Given the description of an element on the screen output the (x, y) to click on. 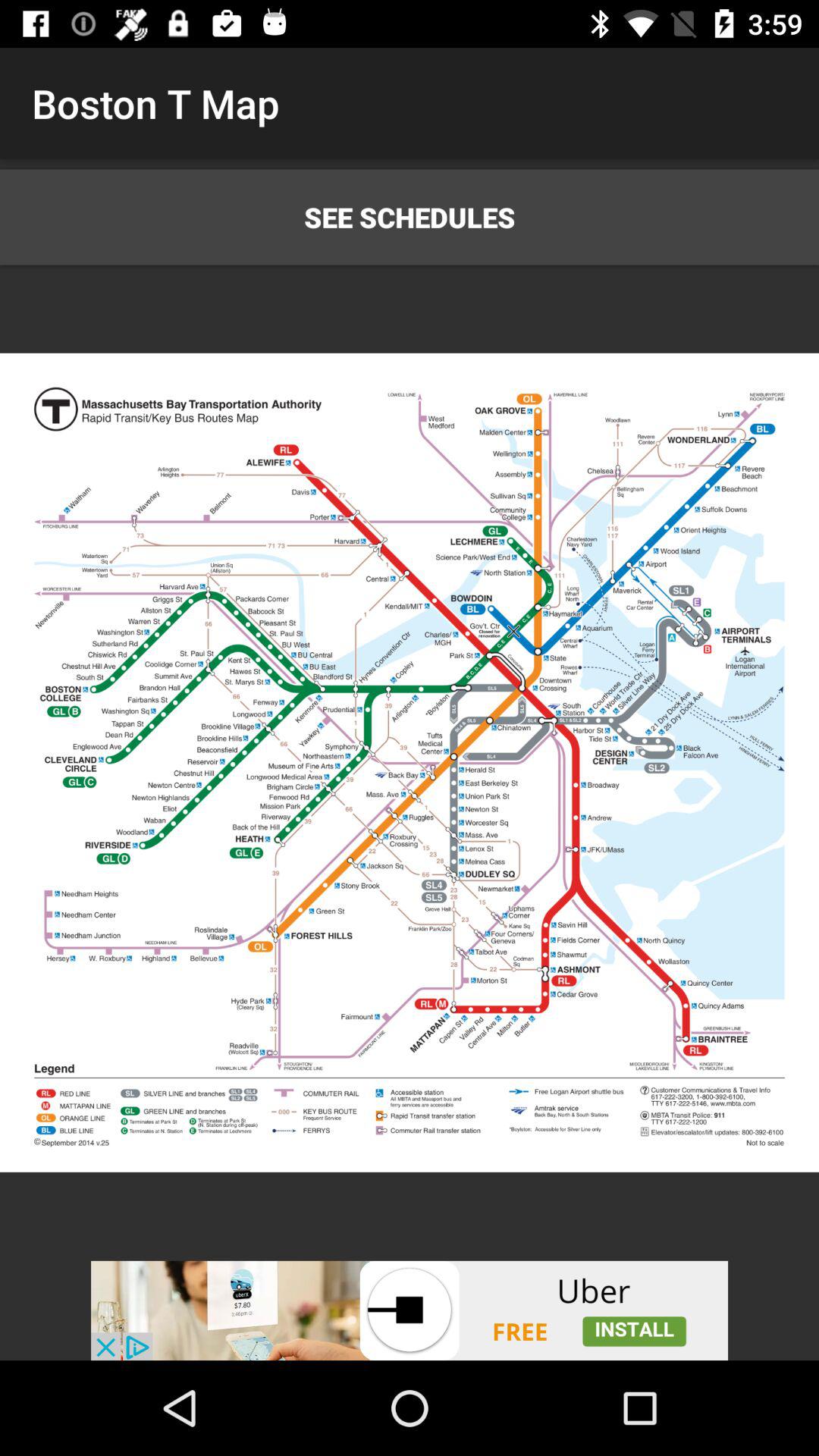
advertisement (409, 1310)
